Given the description of an element on the screen output the (x, y) to click on. 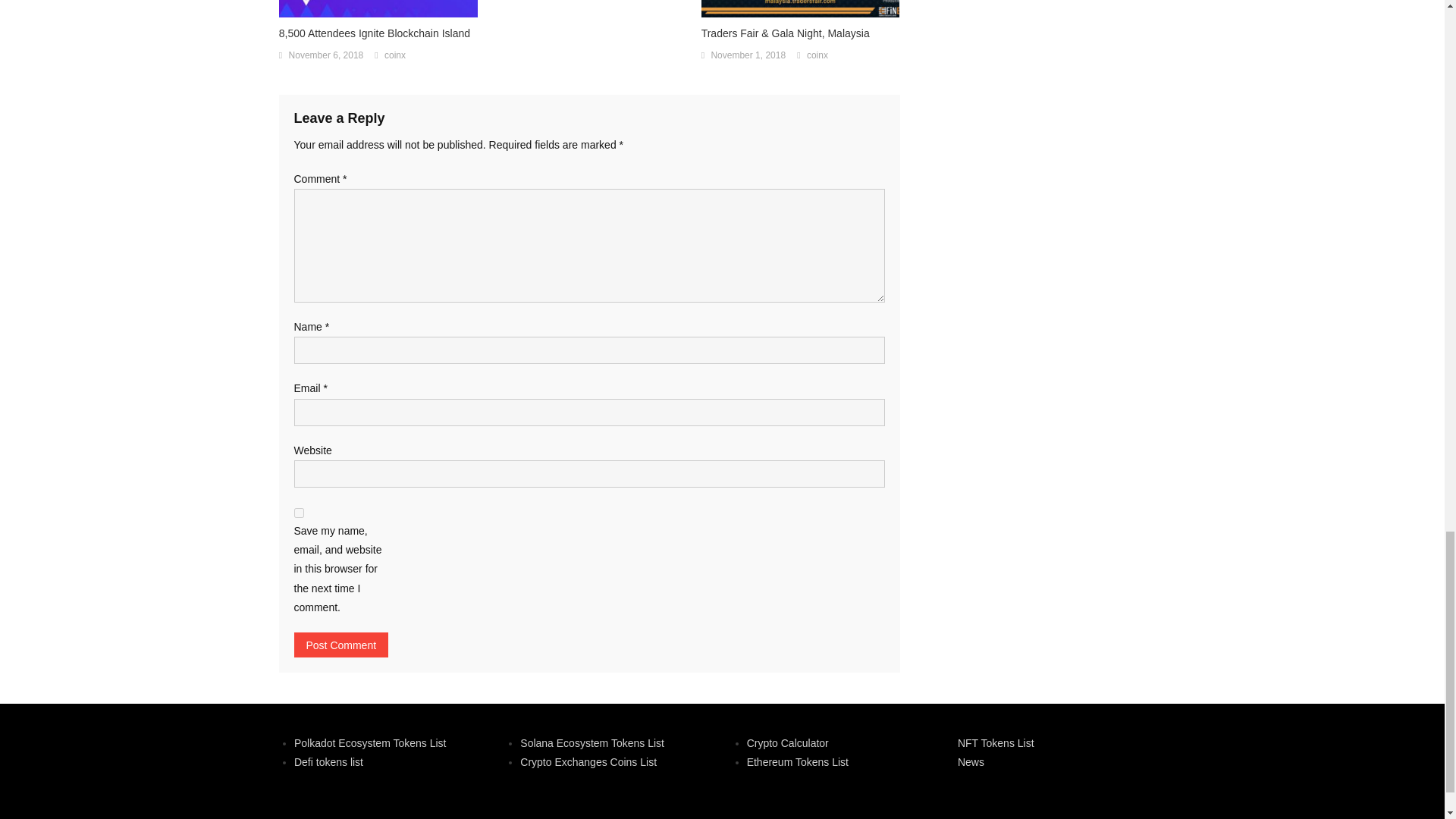
November 6, 2018 (326, 55)
Post Comment (341, 644)
yes (299, 512)
8,500 Attendees Ignite Blockchain Island (378, 33)
coinx (395, 55)
